Given the description of an element on the screen output the (x, y) to click on. 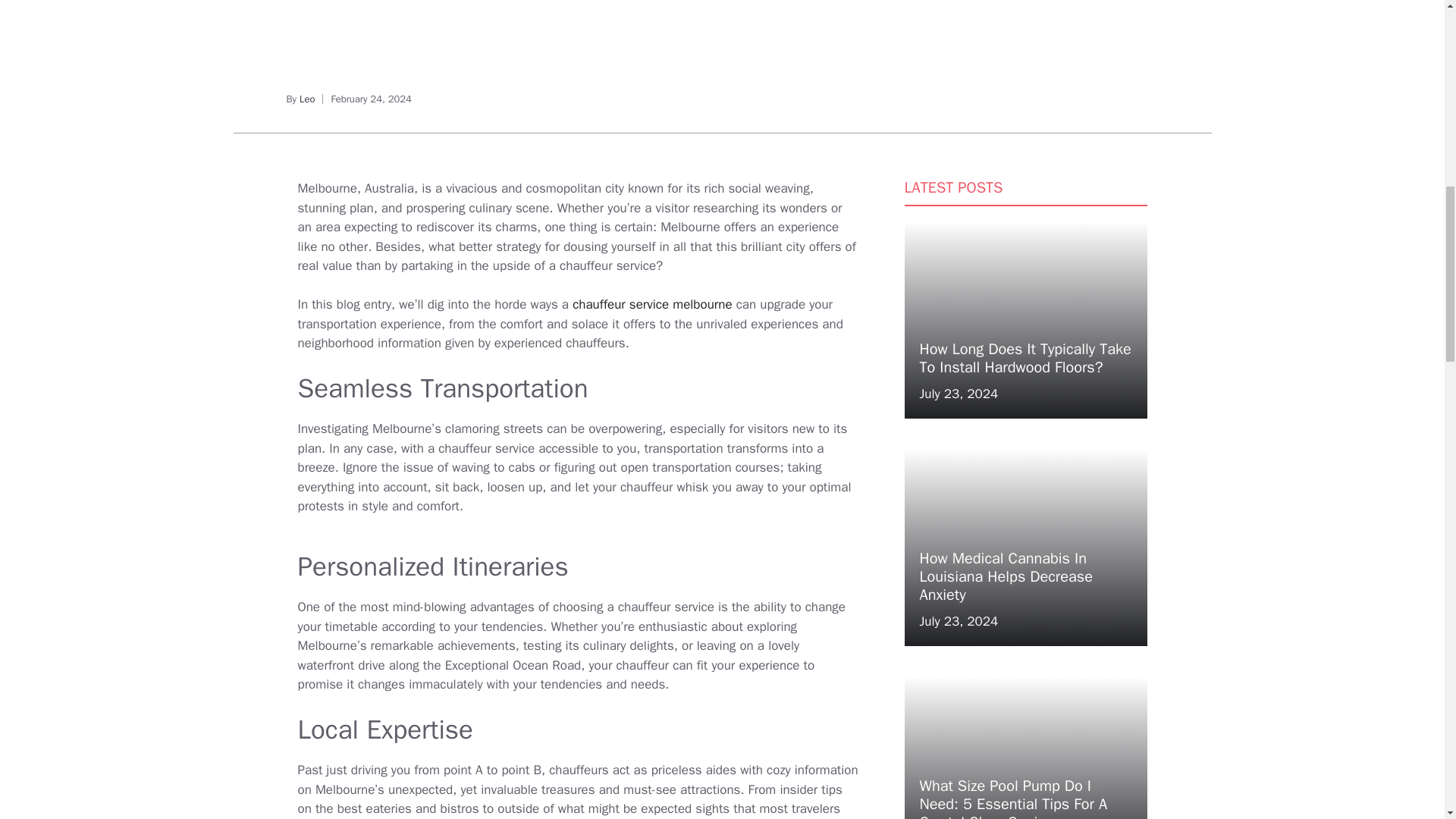
chauffeur service melbourne (652, 304)
Leo (307, 98)
How Medical Cannabis In Louisiana Helps Decrease Anxiety (1005, 576)
How Long Does It Typically Take To Install Hardwood Floors? (1024, 357)
Scroll back to top (1406, 720)
